Given the description of an element on the screen output the (x, y) to click on. 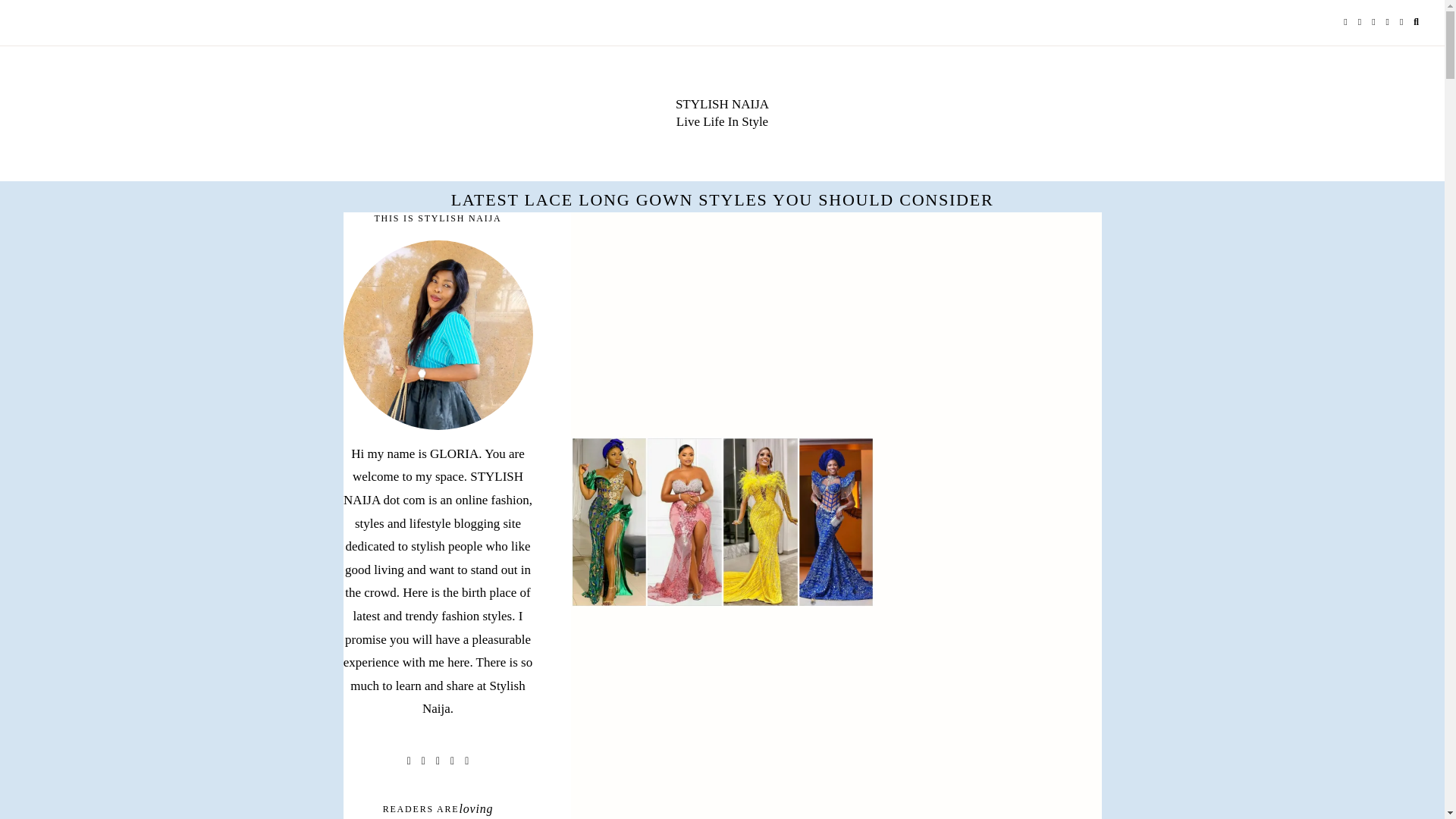
CONTACT ME (186, 22)
Advertisement (835, 324)
Advertisement (835, 724)
CATEGORIES (273, 22)
HOME (50, 22)
ABOUT ME (109, 22)
Stylish Naija (721, 104)
STYLISH NAIJA (721, 104)
